Given the description of an element on the screen output the (x, y) to click on. 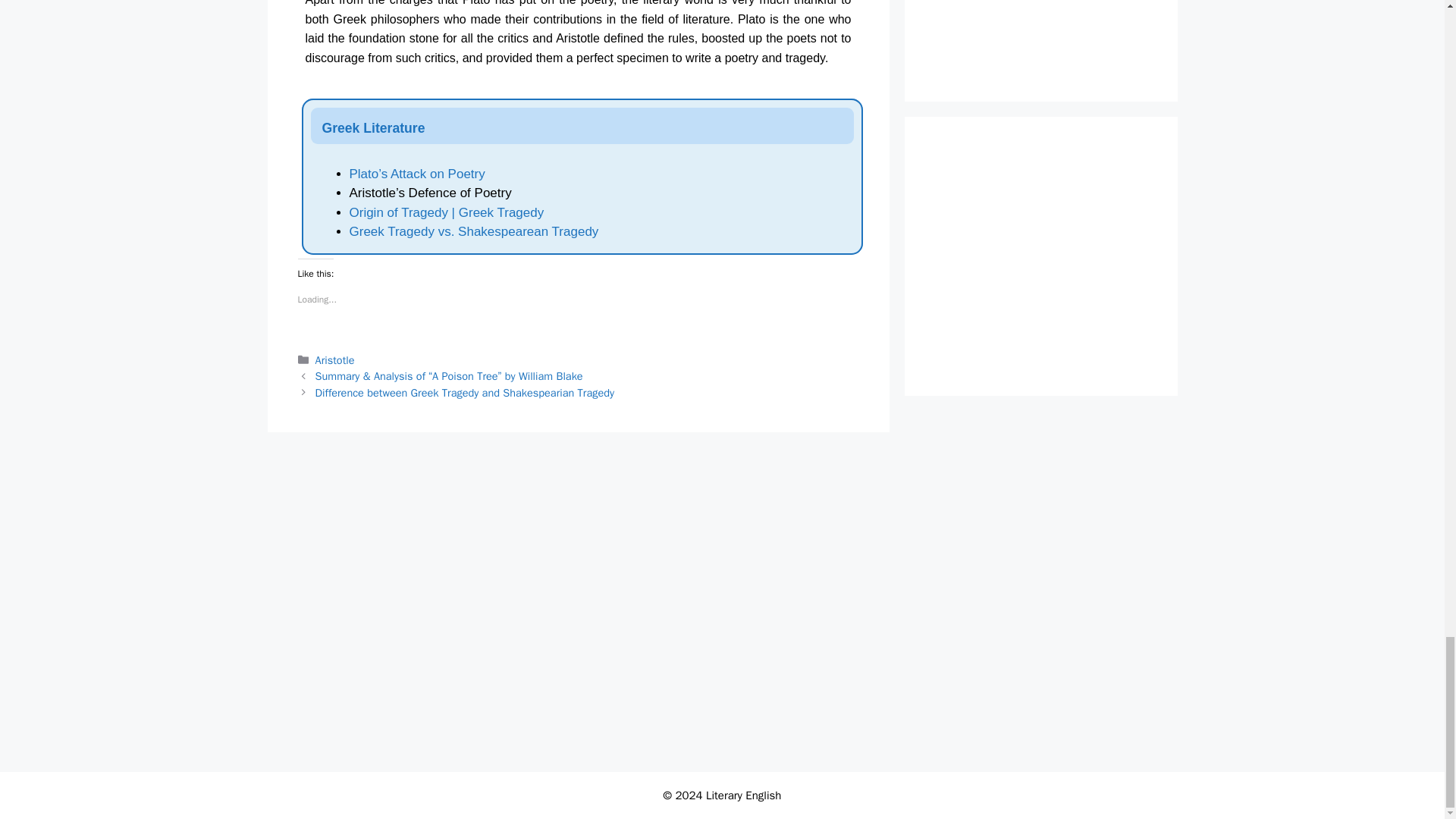
Difference between Greek Tragedy and Shakespearian Tragedy (464, 392)
Aristotle (335, 359)
Advertisement (1063, 35)
Greek Tragedy vs. Shakespearean Tragedy (473, 231)
Advertisement (582, 522)
